Given the description of an element on the screen output the (x, y) to click on. 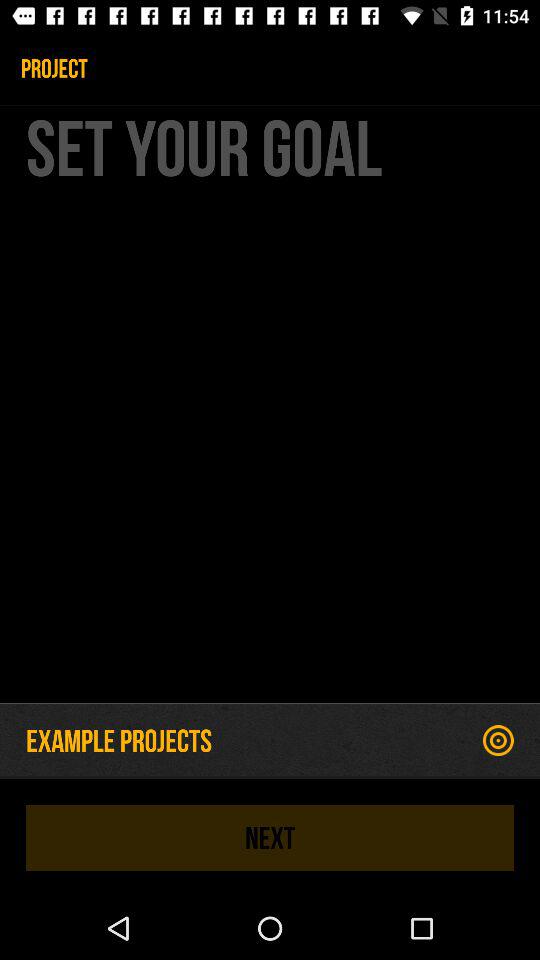
turn off the next item (269, 837)
